Given the description of an element on the screen output the (x, y) to click on. 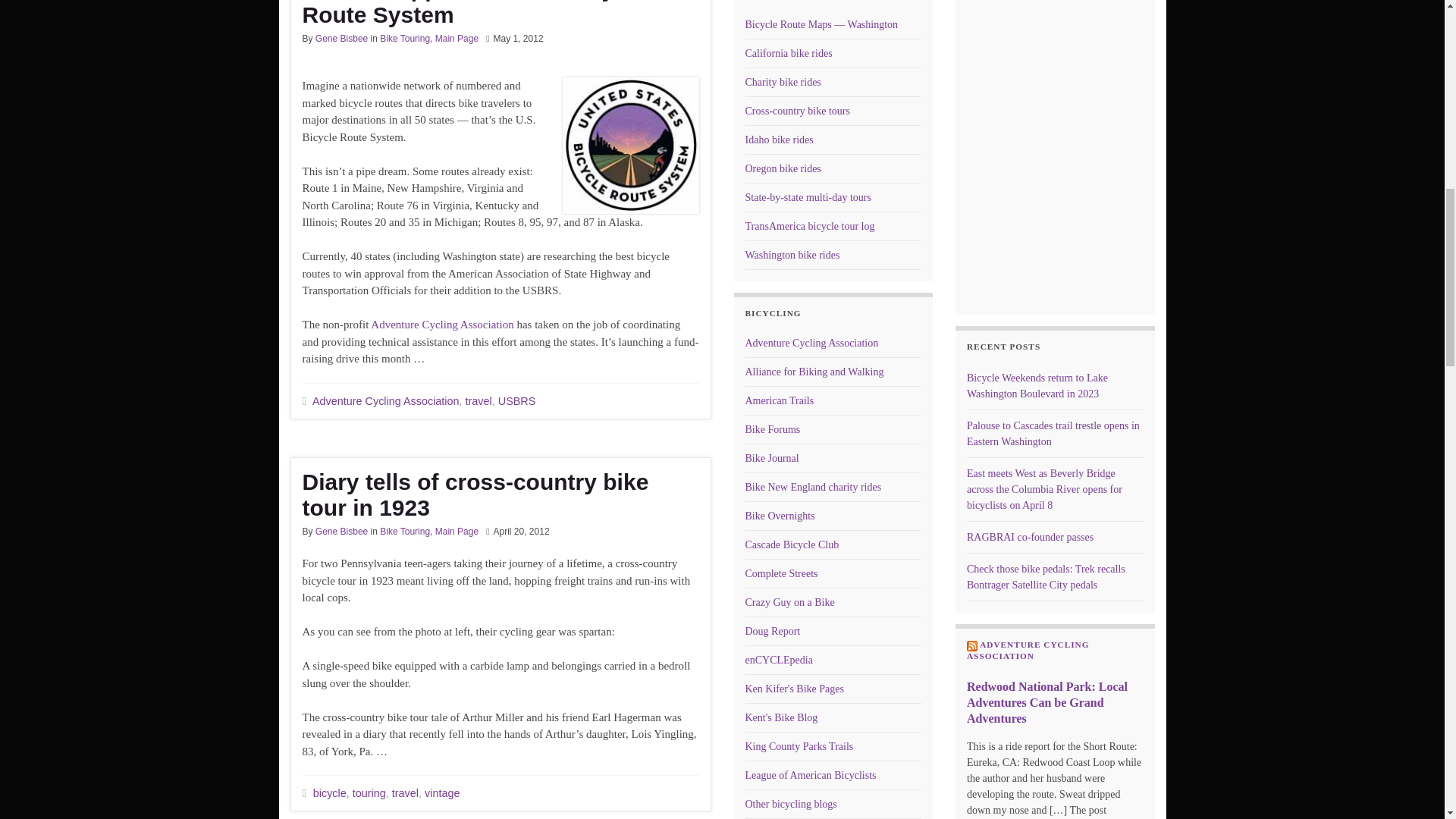
Bike Touring (404, 38)
1984 bicycle tour (809, 225)
Adventure Cycling Association (386, 400)
How to support the U.S. Bicycle Route System (499, 13)
Permalink to How to support the U.S. Bicycle Route System (499, 13)
Seattle-based riding and advocacy club (791, 544)
2012-05-01T08:28:31-07:00 (518, 38)
Permalink to Diary tells of cross-country bike tour in 1923 (499, 494)
Main Page (457, 38)
2012-04-20T08:33:23-07:00 (521, 531)
Adventure Cycling Association (442, 324)
Gene Bisbee (341, 38)
